Given the description of an element on the screen output the (x, y) to click on. 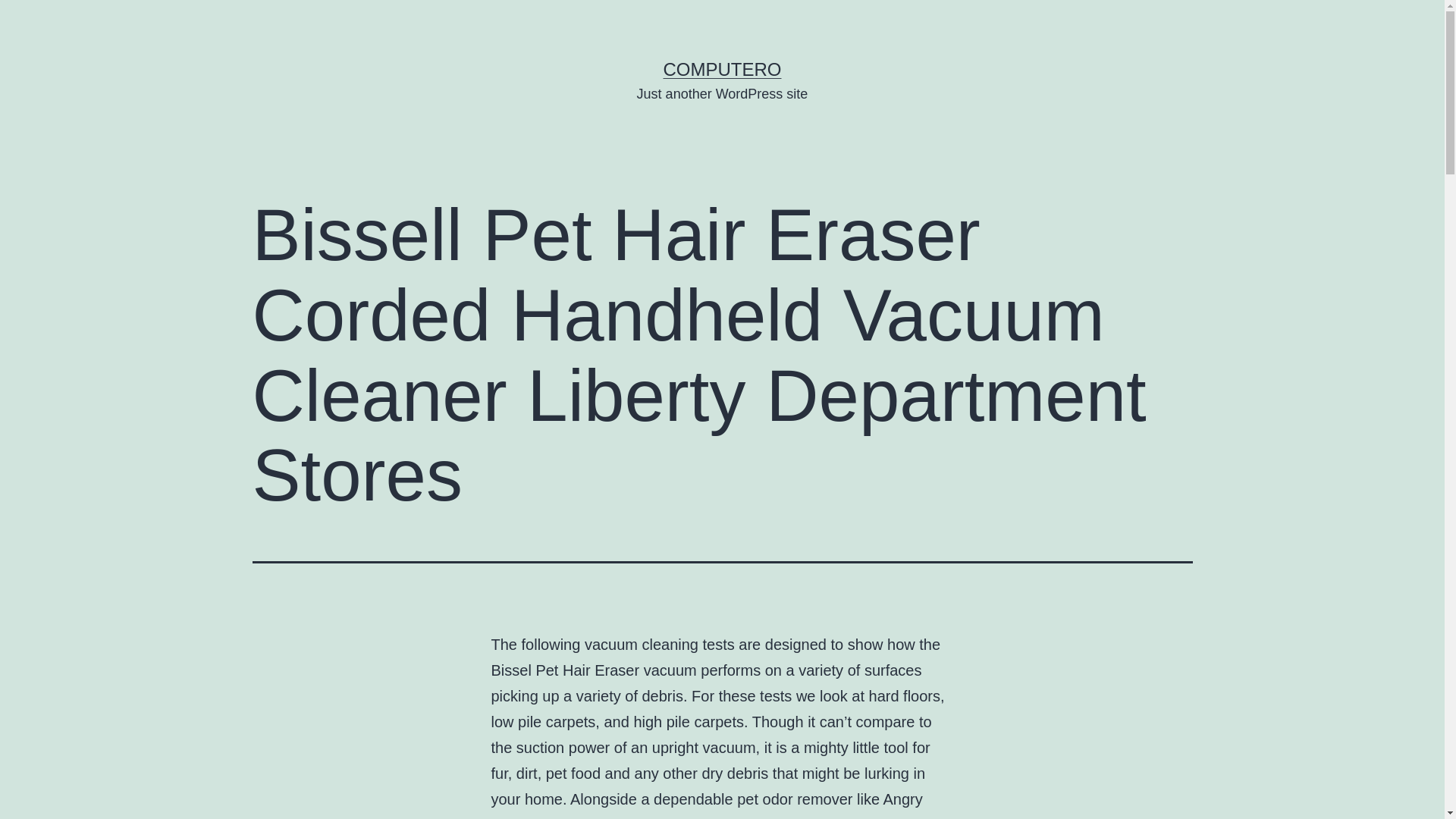
COMPUTERO (721, 68)
